Given the description of an element on the screen output the (x, y) to click on. 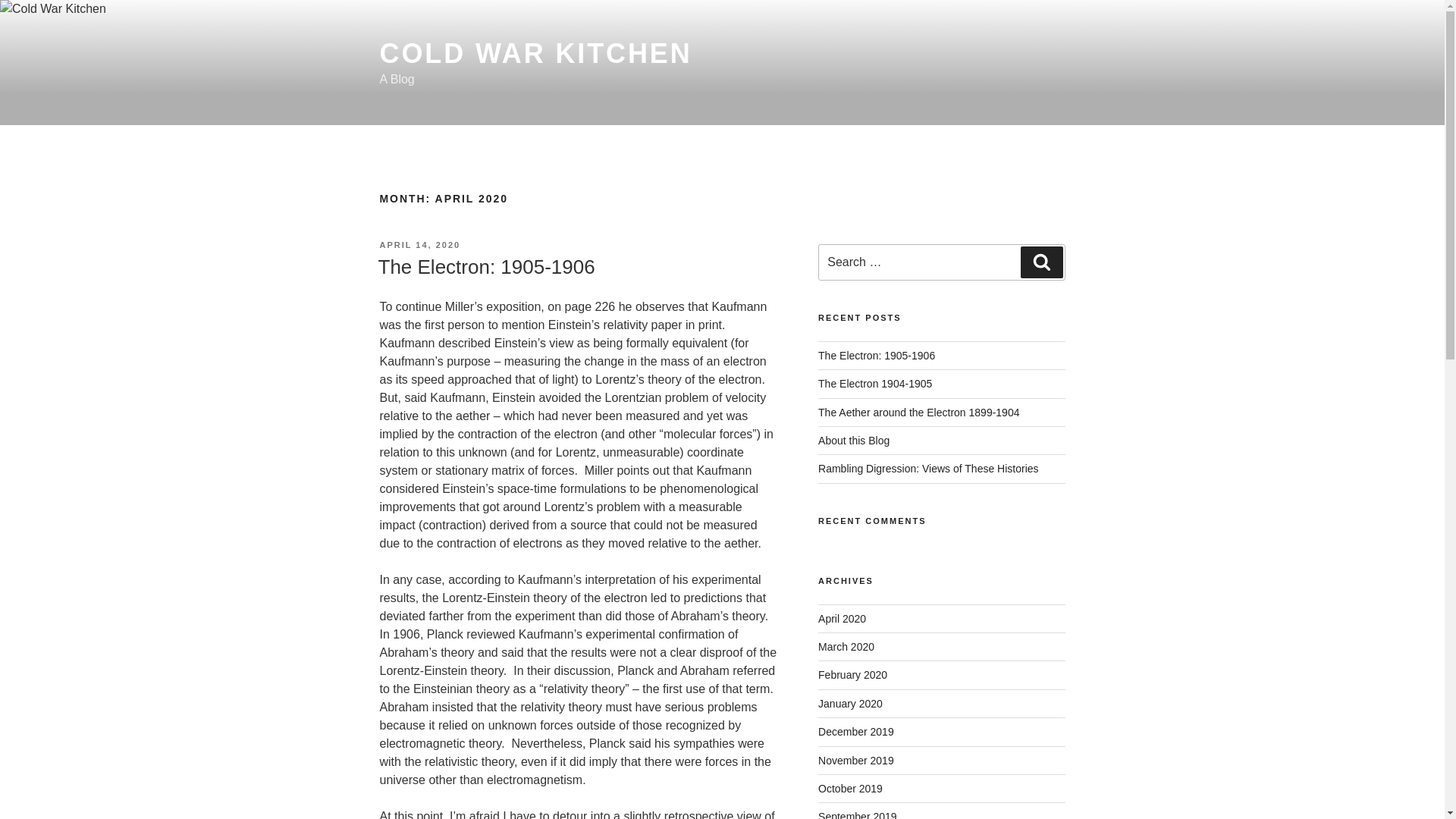
January 2020 (850, 703)
The Electron: 1905-1906 (485, 266)
April 2020 (842, 618)
APRIL 14, 2020 (419, 244)
About this Blog (853, 440)
COLD WAR KITCHEN (534, 52)
February 2020 (852, 674)
December 2019 (855, 731)
October 2019 (850, 788)
The Aether around the Electron 1899-1904 (918, 412)
The Electron 1904-1905 (874, 383)
Search (1041, 262)
March 2020 (846, 646)
The Electron: 1905-1906 (876, 355)
September 2019 (857, 814)
